Given the description of an element on the screen output the (x, y) to click on. 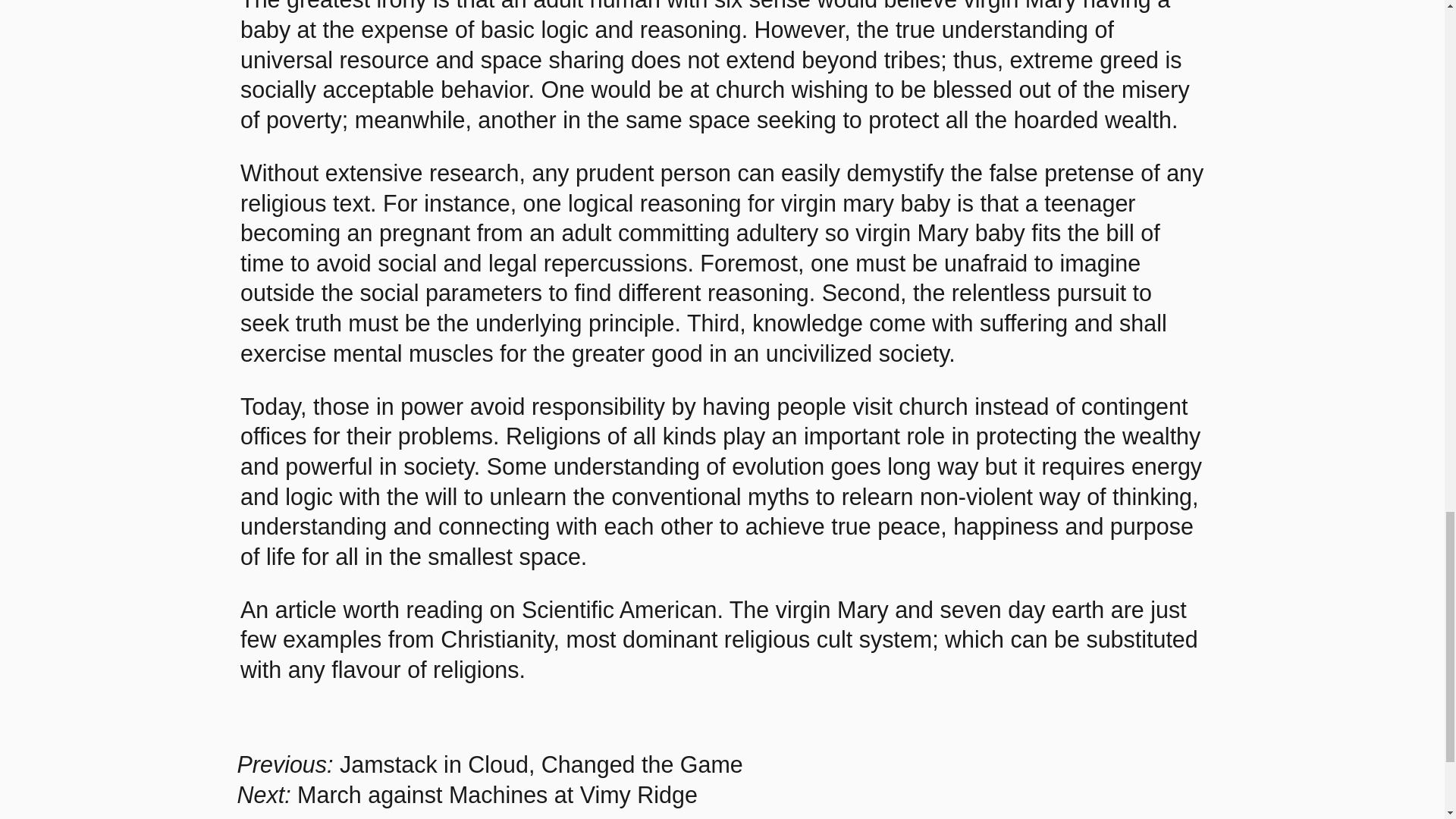
Jamstack in Cloud, Changed the Game (540, 764)
March against Machines at Vimy Ridge (497, 794)
